Given the description of an element on the screen output the (x, y) to click on. 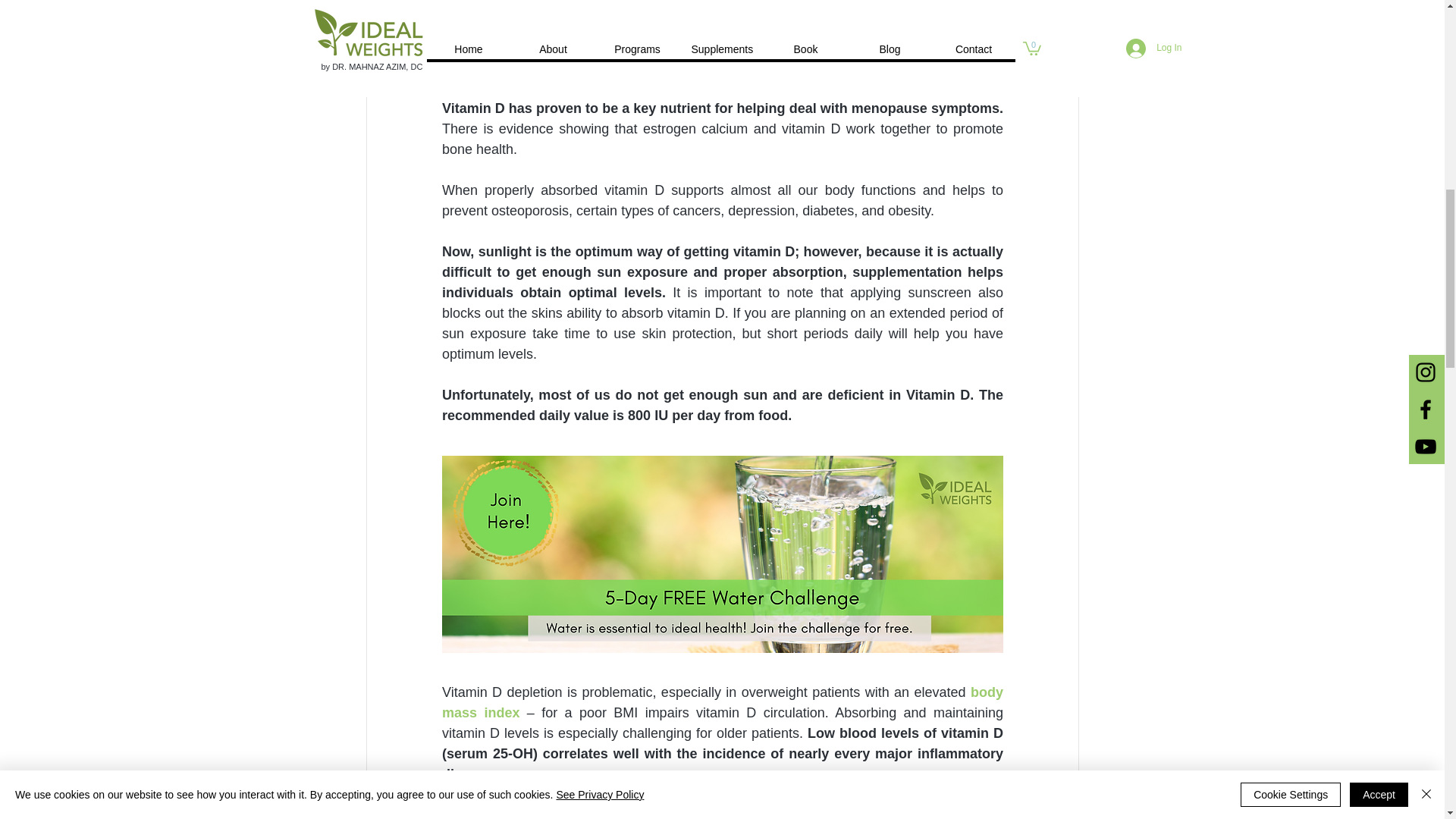
body mass index (723, 702)
